Given the description of an element on the screen output the (x, y) to click on. 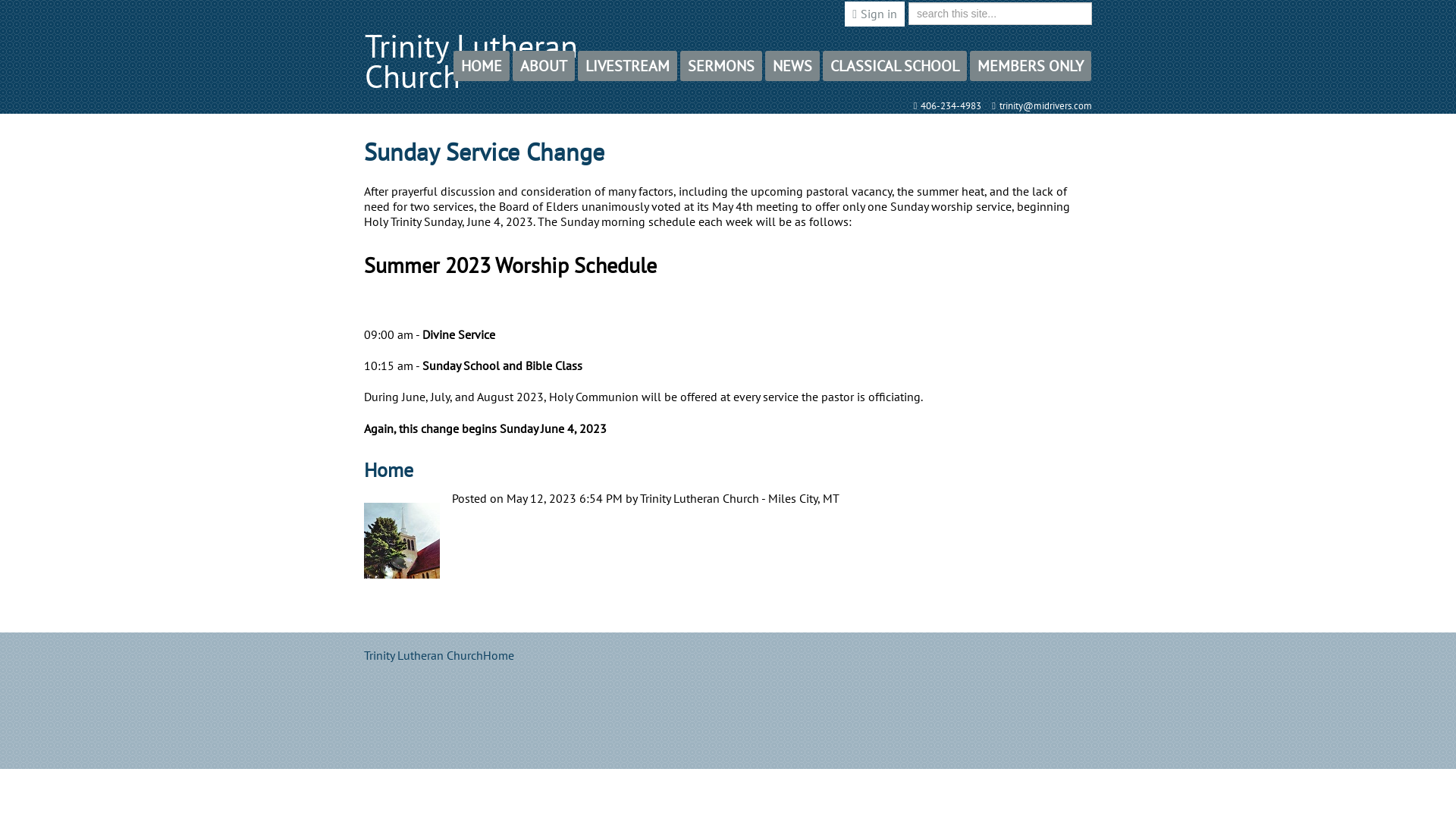
Home Element type: text (504, 654)
trinity@midrivers.com Element type: text (1043, 105)
HOME Element type: text (481, 65)
Home Element type: text (388, 469)
Sign in Element type: text (876, 13)
